Given the description of an element on the screen output the (x, y) to click on. 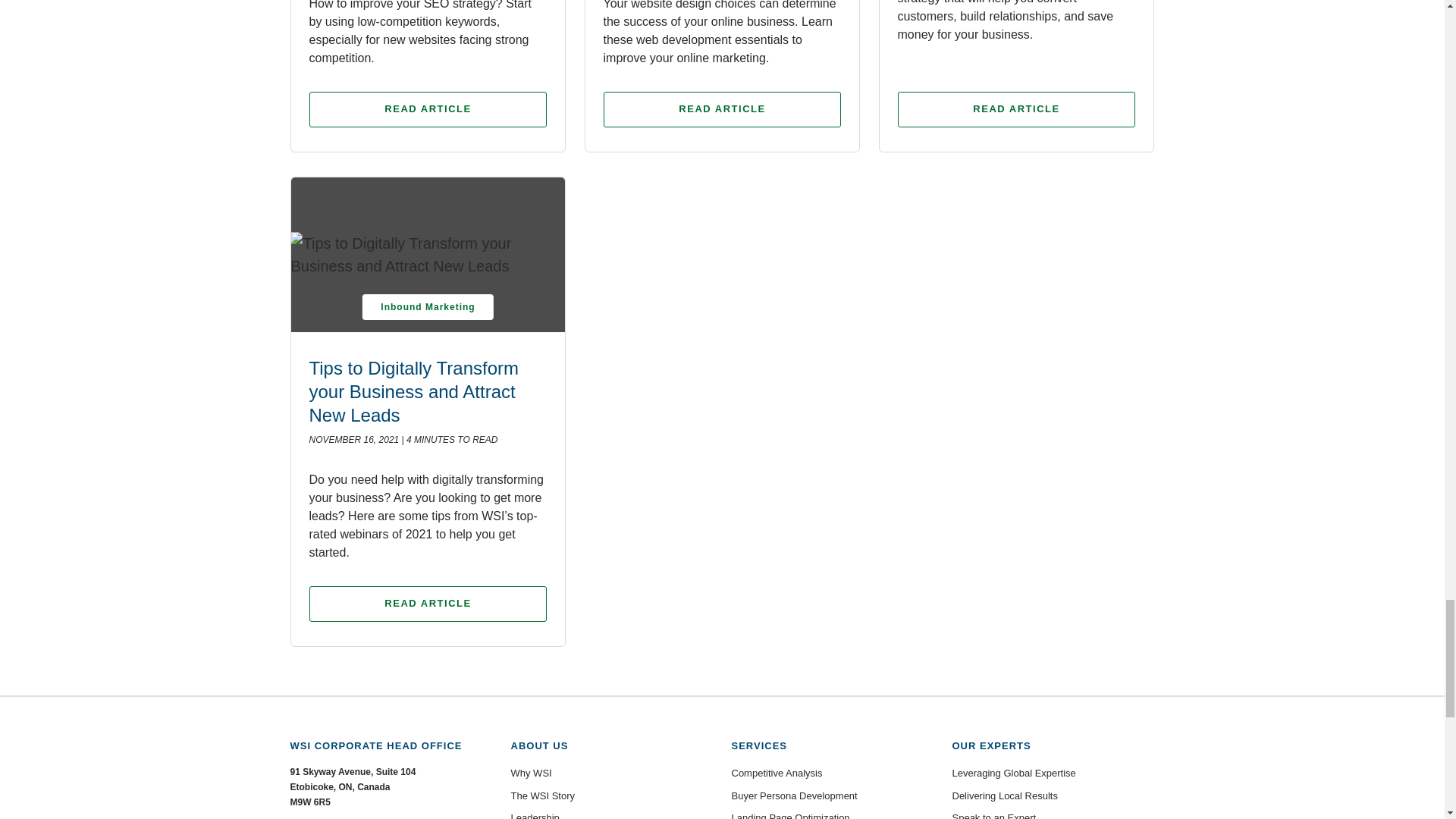
READ ARTICLE (427, 109)
READ ARTICLE (722, 109)
